Given the description of an element on the screen output the (x, y) to click on. 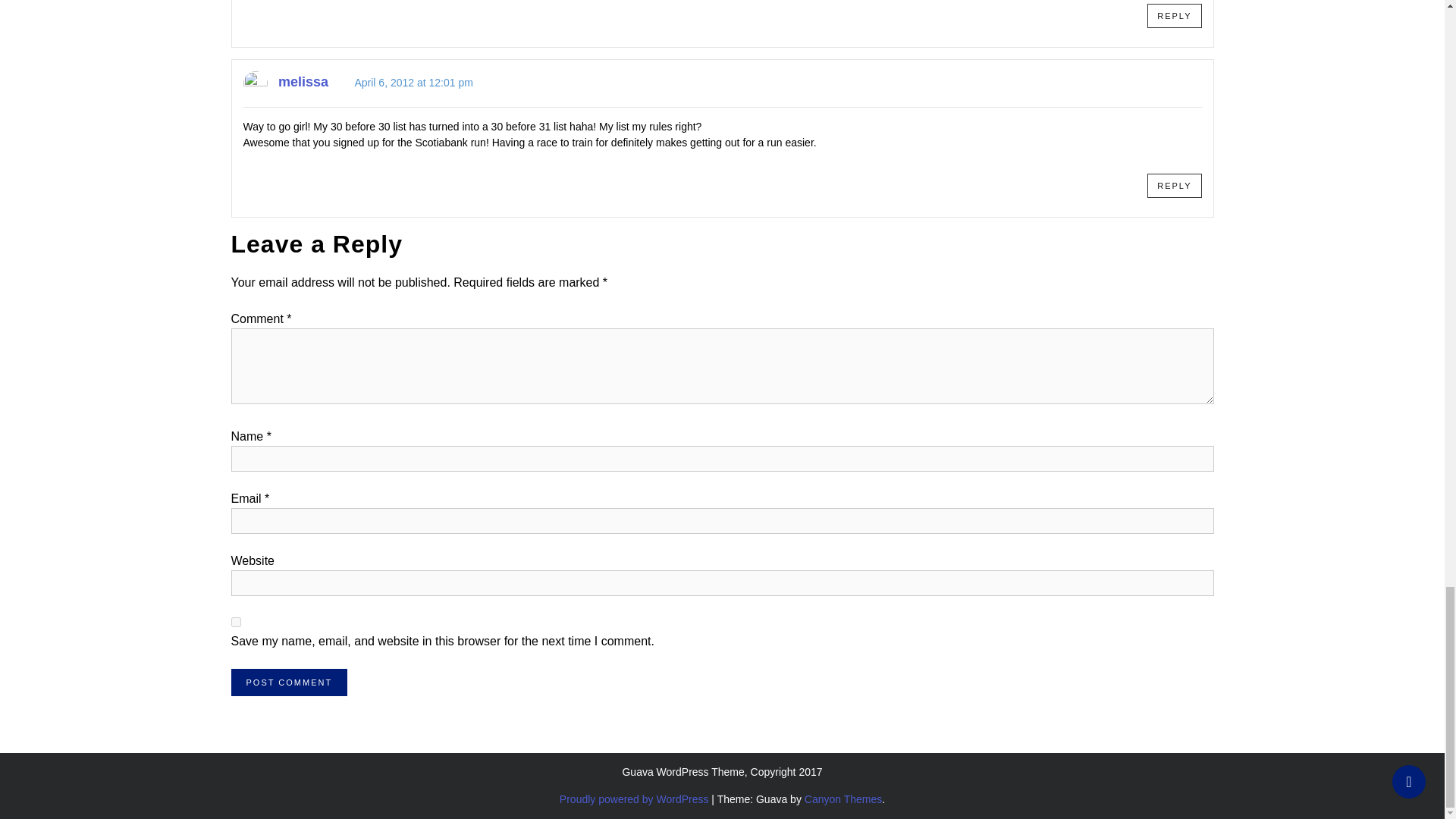
yes (235, 622)
Post Comment (288, 682)
